Given the description of an element on the screen output the (x, y) to click on. 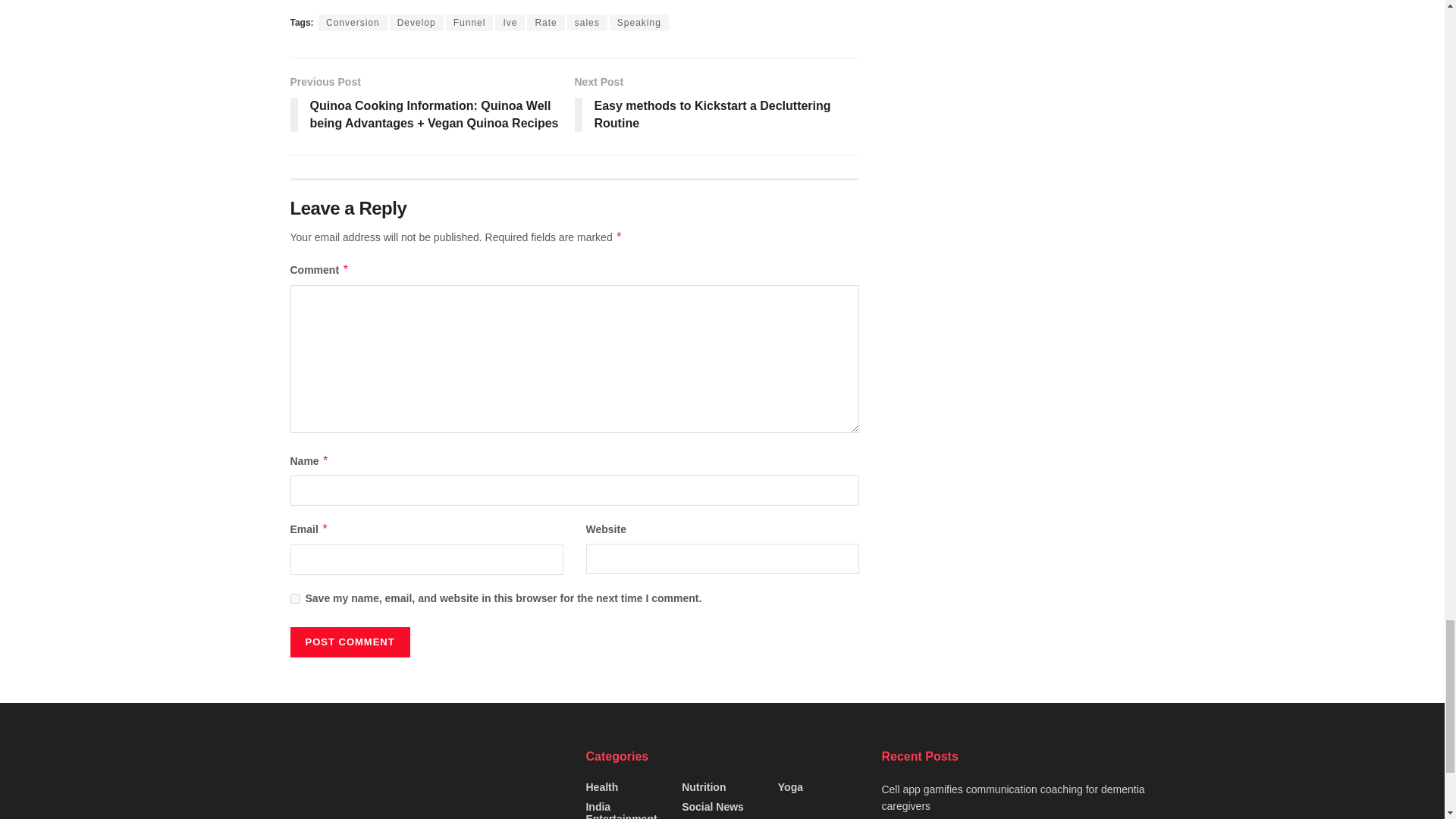
Conversion (352, 22)
yes (294, 598)
Post Comment (349, 642)
Develop (417, 22)
Funnel (469, 22)
